Given the description of an element on the screen output the (x, y) to click on. 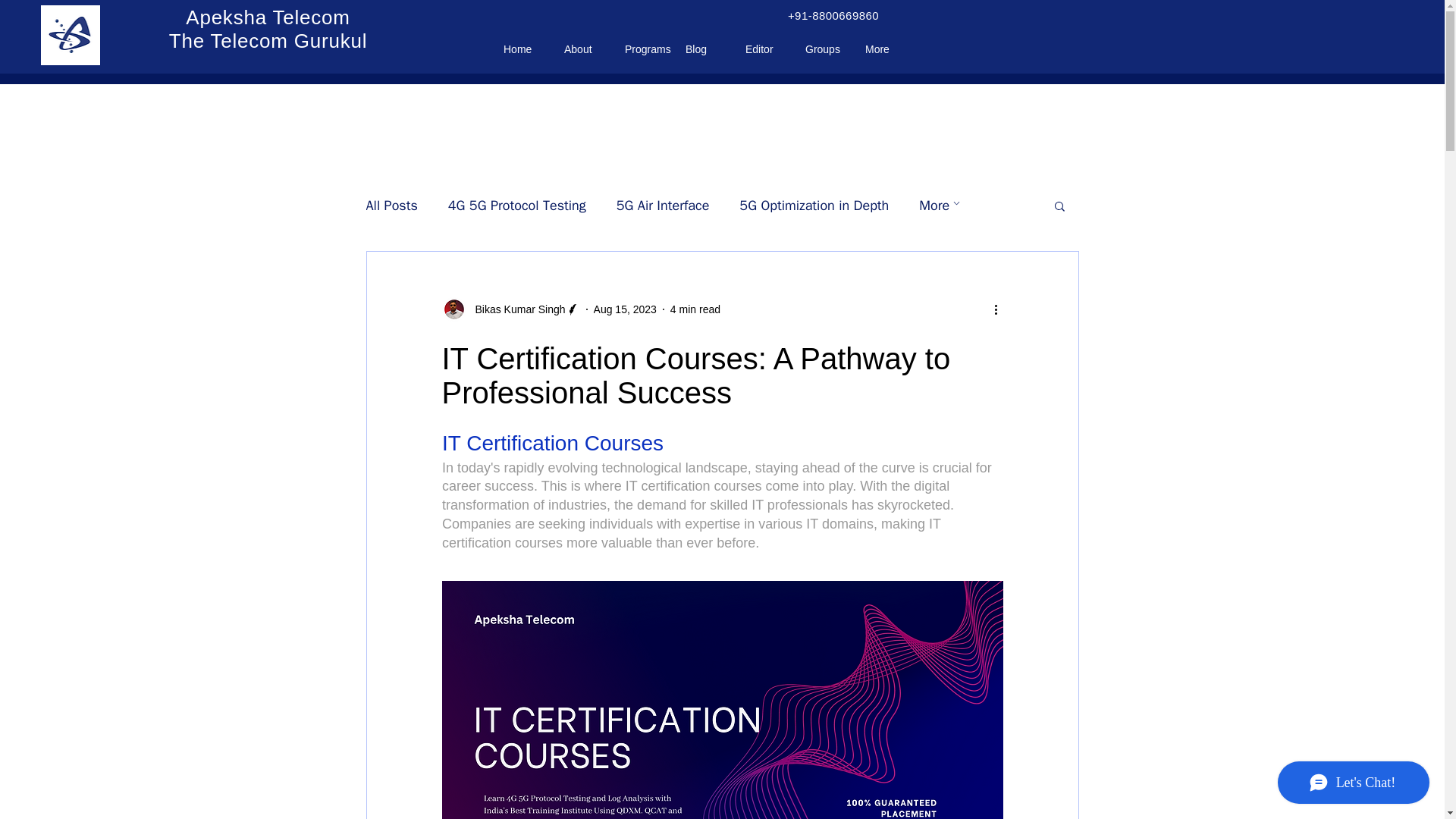
4 min read (694, 309)
5G Optimization in Depth (813, 205)
Bikas Kumar Singh (510, 309)
Editor (767, 48)
Programs (647, 48)
Bikas Kumar Singh (514, 309)
All Posts (390, 205)
Home (526, 48)
5G Air Interface (662, 205)
4G 5G Protocol Testing (517, 205)
IT Certification Courses (722, 699)
About (586, 48)
Groups (827, 48)
Aug 15, 2023 (267, 28)
